Given the description of an element on the screen output the (x, y) to click on. 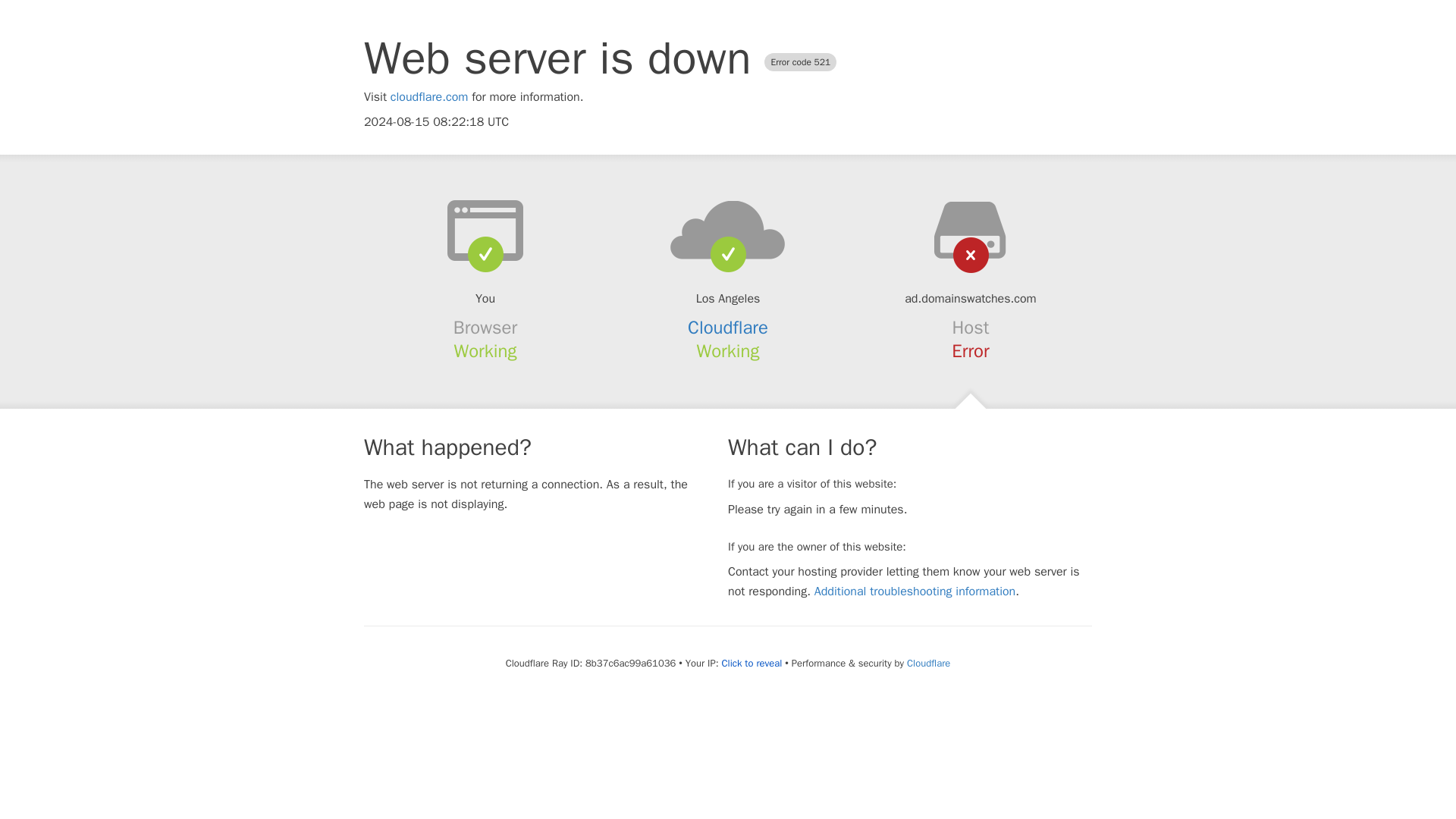
Cloudflare (928, 662)
Additional troubleshooting information (913, 590)
Click to reveal (750, 663)
cloudflare.com (429, 96)
Cloudflare (727, 327)
